Given the description of an element on the screen output the (x, y) to click on. 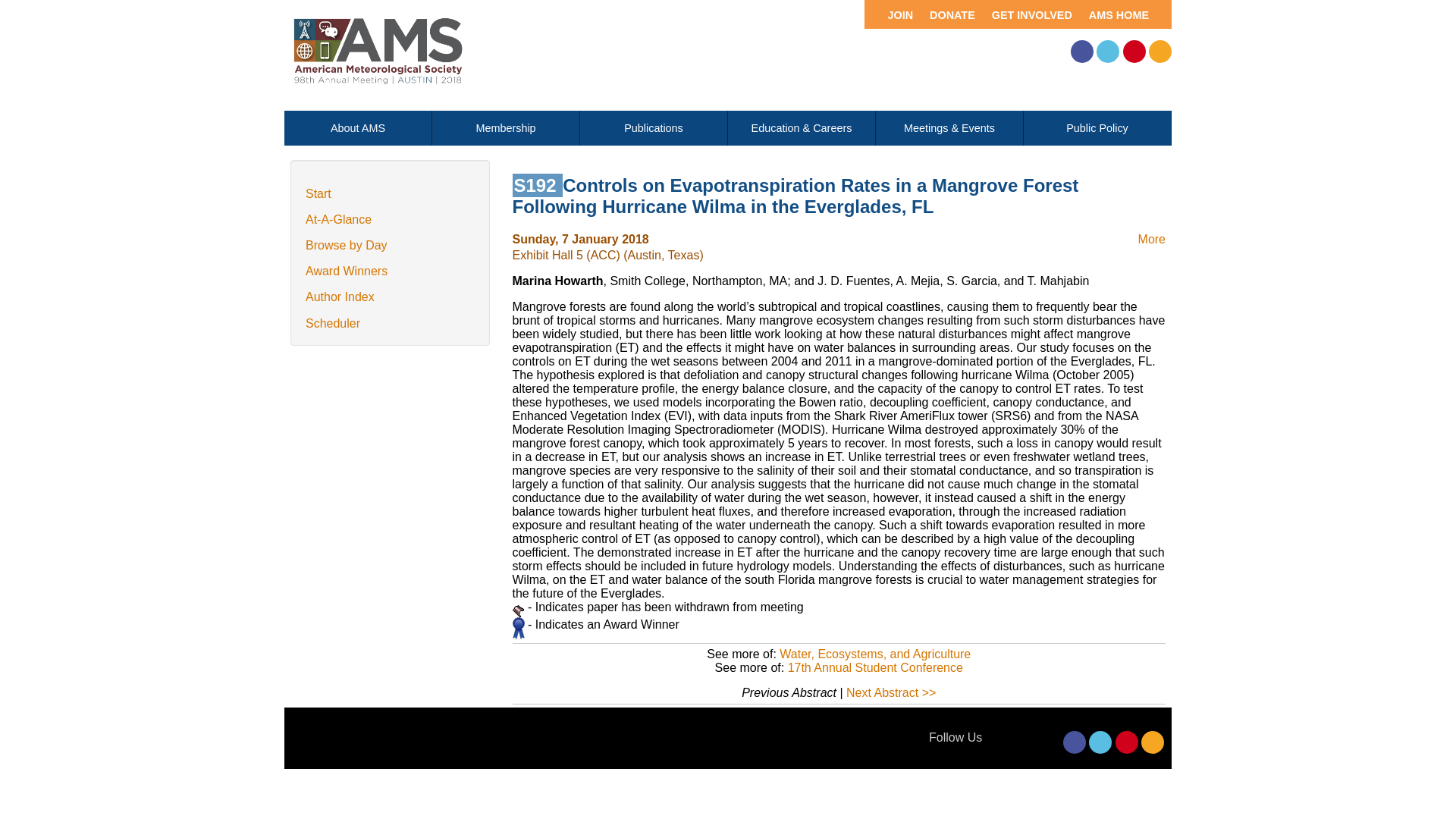
About AMS (356, 127)
Start (318, 193)
YouTube (1133, 51)
Browse by Day (346, 245)
At-A-Glance (338, 219)
RSS (1152, 742)
Scheduler (332, 323)
Twitter (1107, 51)
Publications (652, 127)
17th Annual Student Conference (874, 667)
Award Winners (346, 270)
JOIN (891, 14)
Water, Ecosystems, and Agriculture (874, 653)
More (1152, 238)
Facebook (1081, 51)
